Given the description of an element on the screen output the (x, y) to click on. 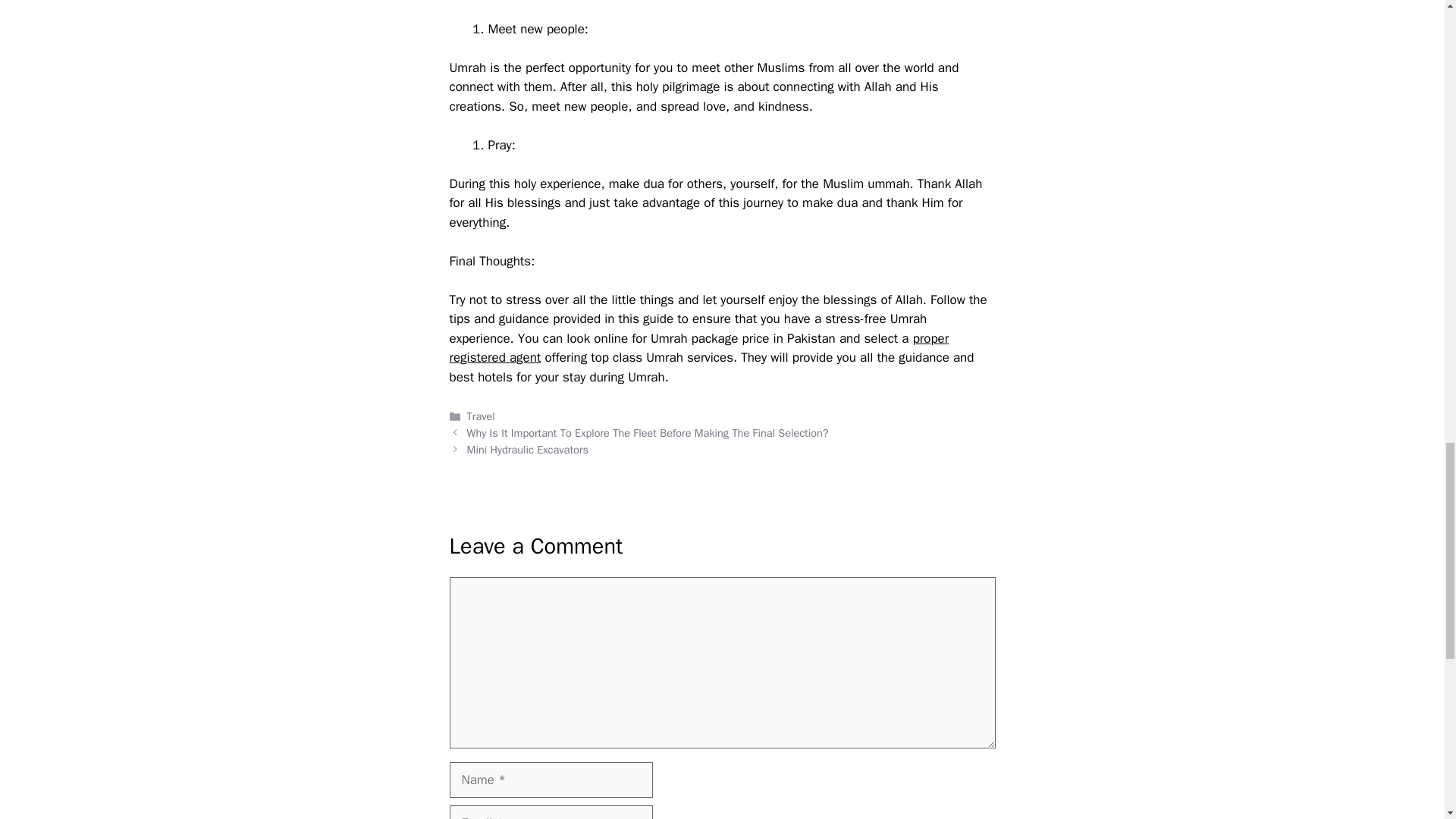
proper registered agent (698, 348)
Mini Hydraulic Excavators (527, 449)
Travel (481, 416)
